Given the description of an element on the screen output the (x, y) to click on. 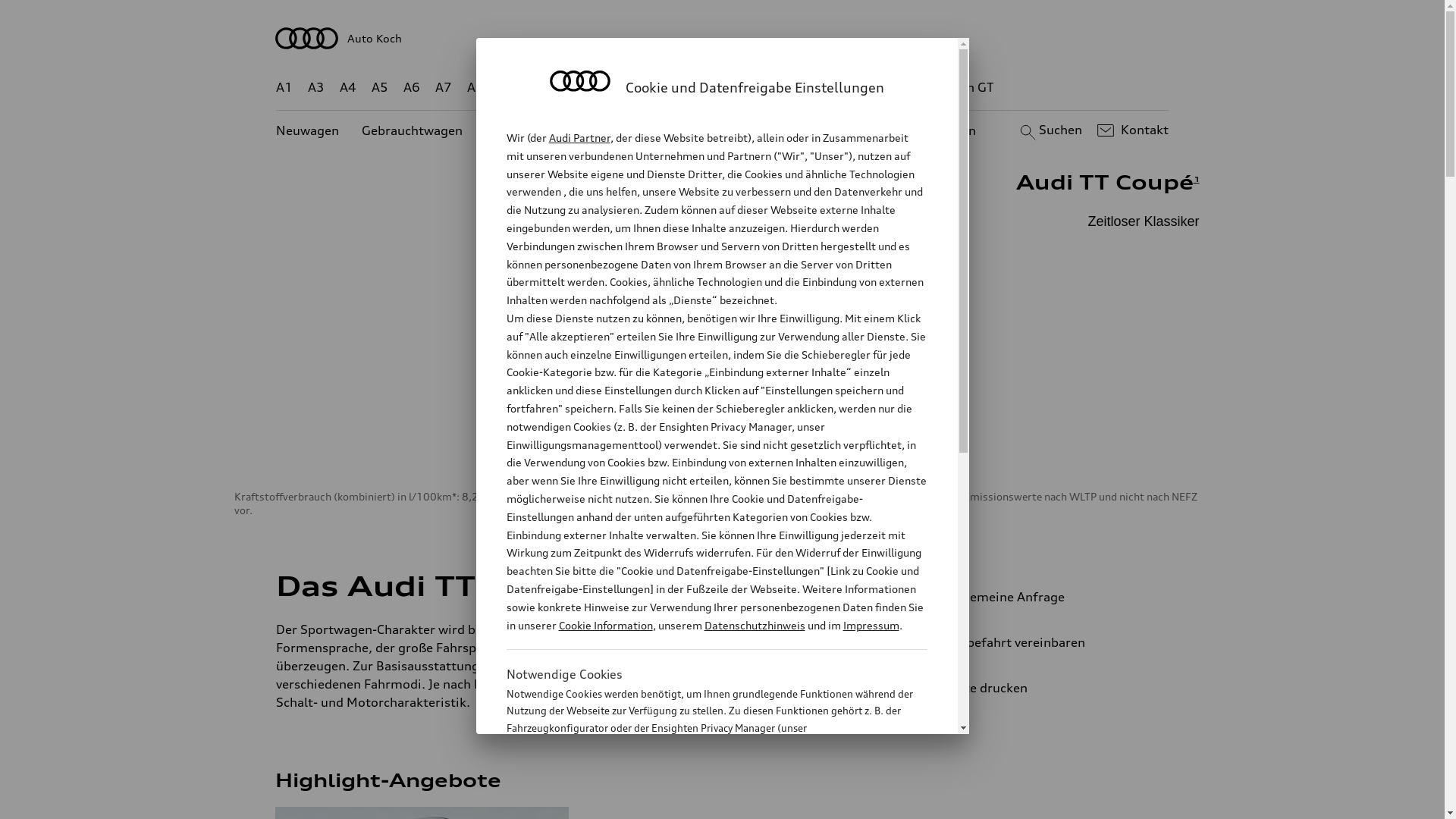
A6 Element type: text (411, 87)
Allgemeine Anfrage Element type: text (1038, 596)
A3 Element type: text (315, 87)
Neuwagen Element type: text (307, 130)
1 Element type: text (1196, 178)
Kundenservice Element type: text (730, 130)
Datenschutzhinweis Element type: text (753, 624)
Q2 Element type: text (507, 87)
Q7 Element type: text (678, 87)
g-tron Element type: text (903, 87)
Audi Partner Element type: text (579, 137)
Q8 e-tron Element type: text (763, 87)
Kontakt Element type: text (1130, 130)
Probefahrt vereinbaren Element type: text (1038, 642)
Suchen Element type: text (1049, 130)
Gebrauchtwagen Element type: text (411, 130)
Q8 Element type: text (710, 87)
A5 Element type: text (379, 87)
Q5 Element type: text (645, 87)
TT Element type: text (814, 87)
A4 Element type: text (347, 87)
Q4 e-tron Element type: text (592, 87)
Angebote Element type: text (636, 130)
Cookie Information Element type: text (700, 802)
Cookie Information Element type: text (605, 624)
RS Element type: text (861, 87)
A8 Element type: text (475, 87)
A1 Element type: text (284, 87)
A7 Element type: text (443, 87)
Auto Koch Element type: text (722, 38)
Seite drucken Element type: text (1044, 687)
e-tron GT Element type: text (965, 87)
1 Element type: text (593, 582)
Impressum Element type: text (871, 624)
Q3 Element type: text (540, 87)
